Given the description of an element on the screen output the (x, y) to click on. 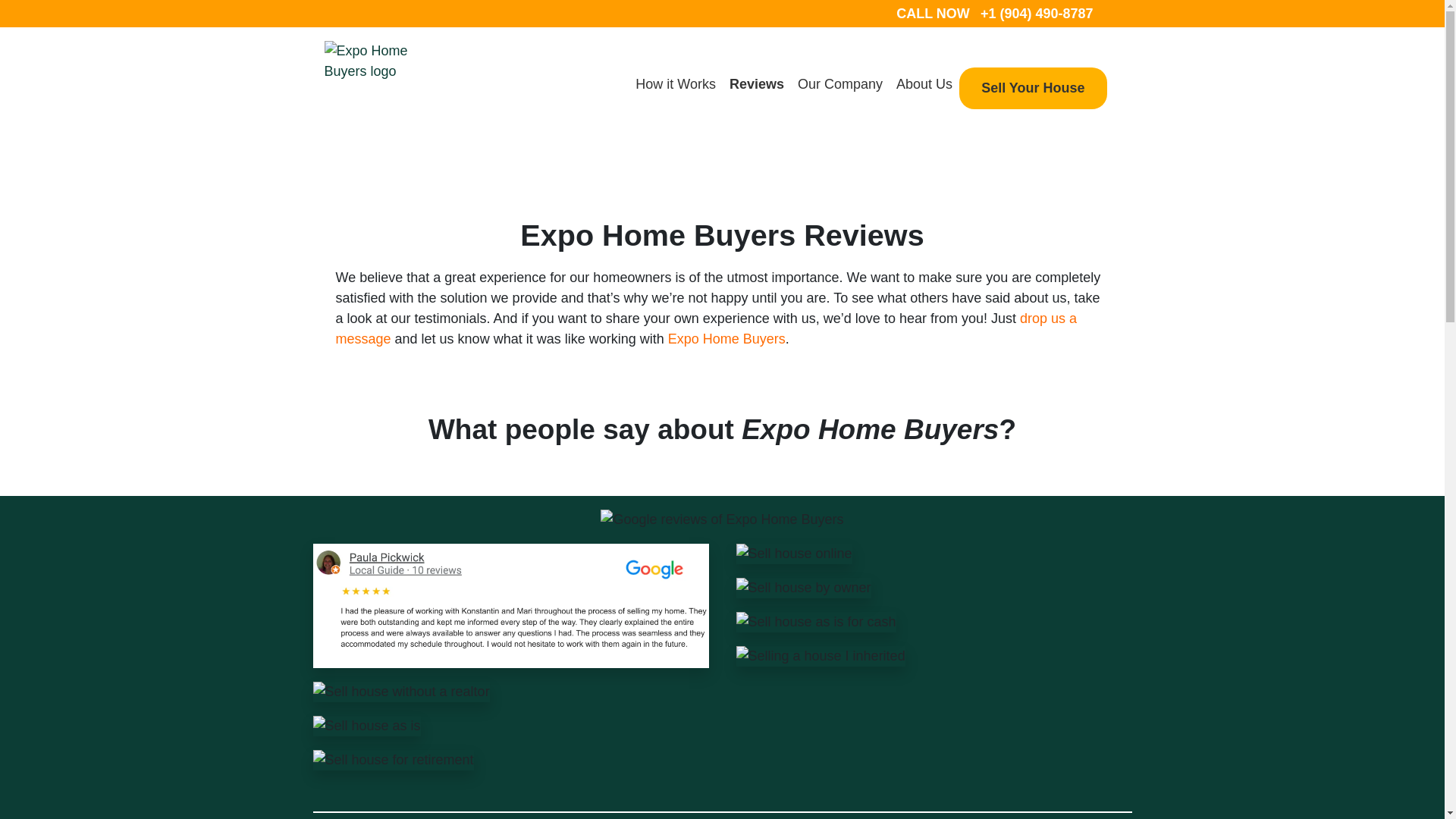
Sell Your House (1032, 88)
drop us a message (705, 328)
About Us (924, 84)
Reviews (756, 84)
Sell Your House (1032, 88)
Reviews (756, 84)
Our Company (839, 84)
About Us (924, 84)
How it Works (675, 84)
Expo Home Buyers (727, 337)
How it Works (675, 84)
Our Company (839, 84)
